Given the description of an element on the screen output the (x, y) to click on. 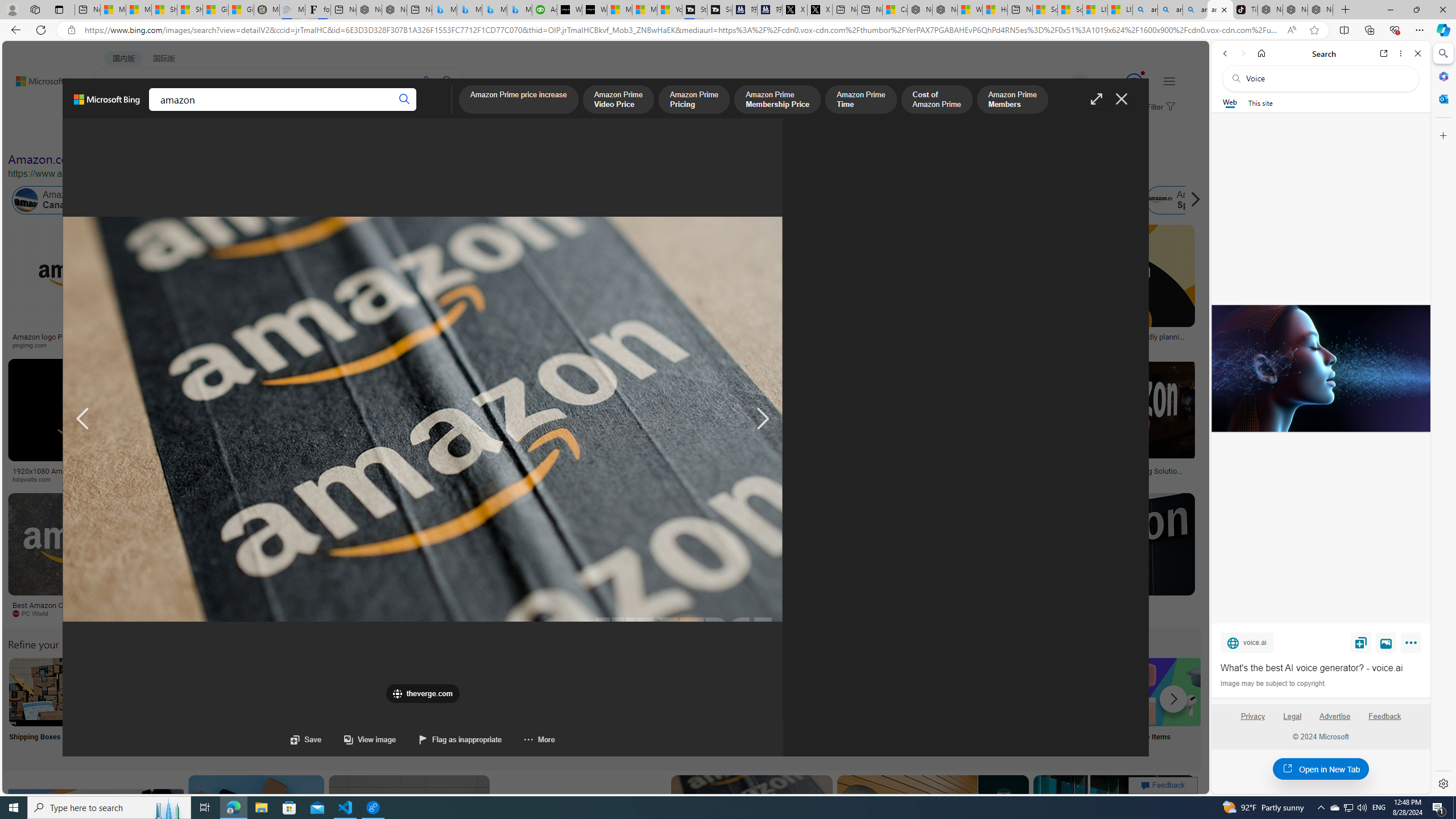
Image may be subject to copyright. (1273, 682)
Class: item col (1183, 199)
The Verge (237, 613)
License (377, 135)
Search button (404, 99)
Amazon Jobs Near Me Jobs Near Me (342, 706)
Listen: What's next for Amazon?usatoday.comSave (406, 289)
Cost of Amazon Prime (936, 100)
voice.ai (1247, 642)
Nordace - Best Sellers (1270, 9)
